Given the description of an element on the screen output the (x, y) to click on. 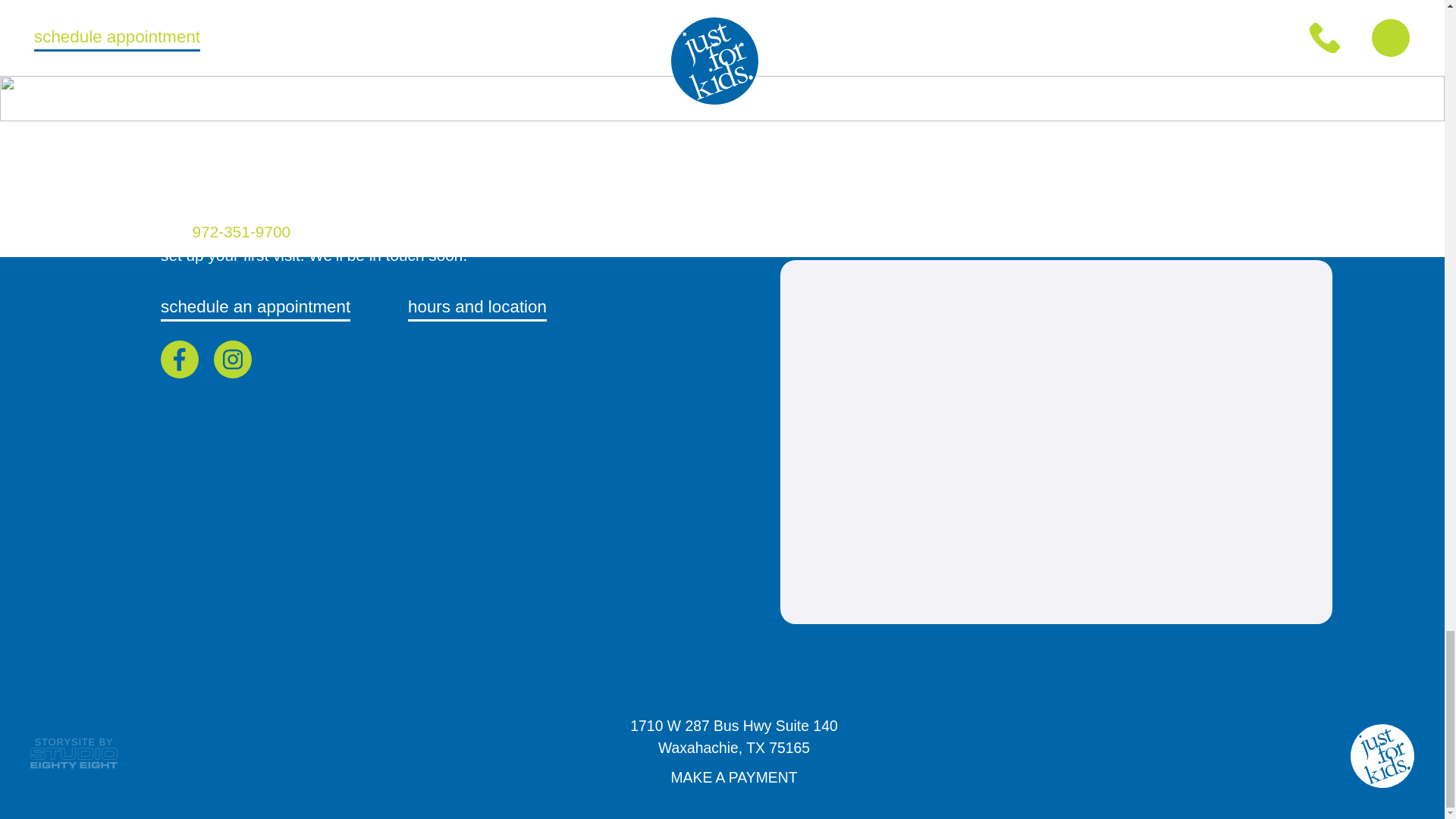
MAKE A PAYMENT (733, 781)
schedule an appointment (255, 308)
972-351-9700 (733, 740)
hours and location (243, 231)
Studio Eighty Eight (477, 308)
